Given the description of an element on the screen output the (x, y) to click on. 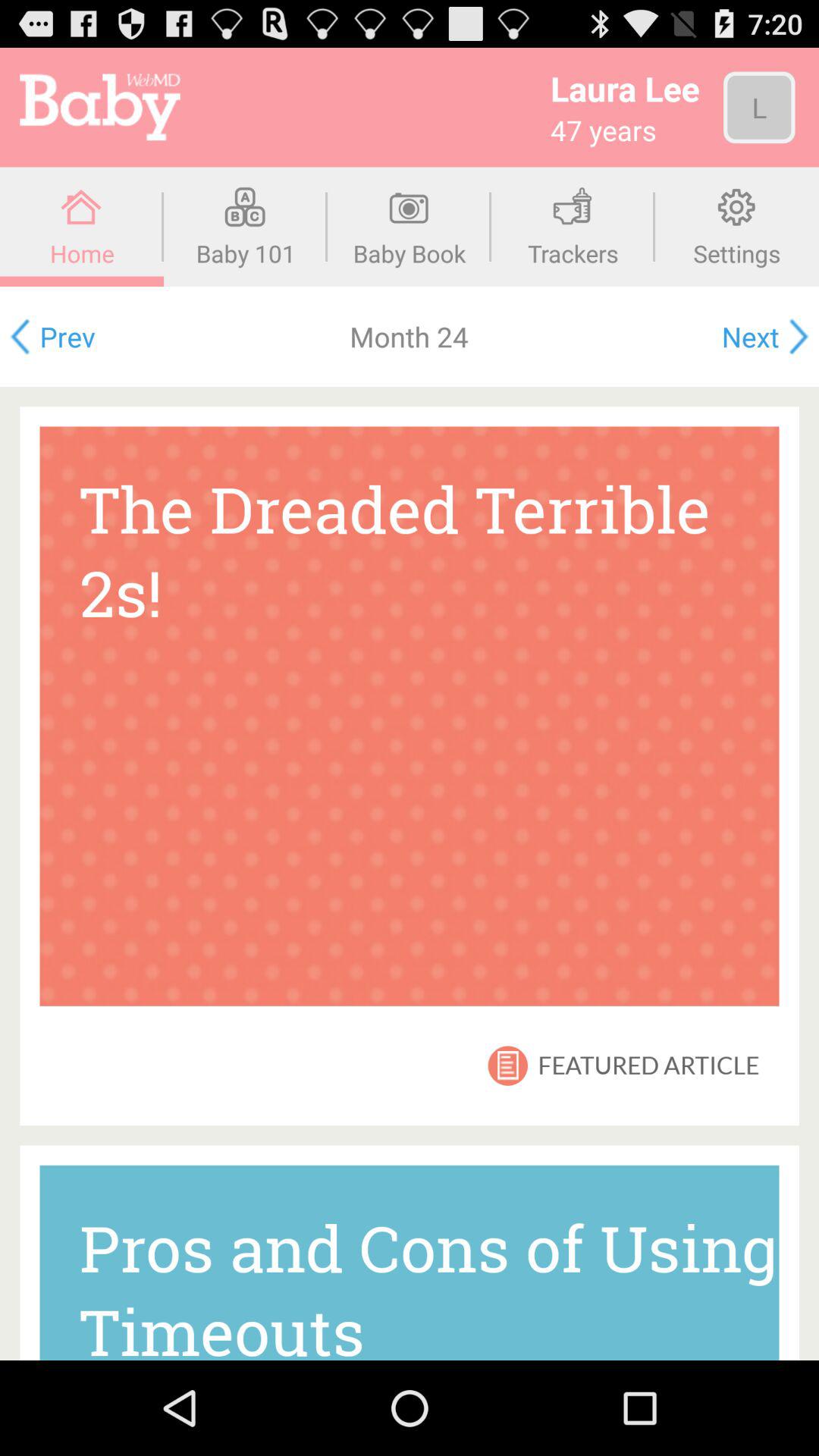
swipe until the pros and cons (409, 1262)
